Given the description of an element on the screen output the (x, y) to click on. 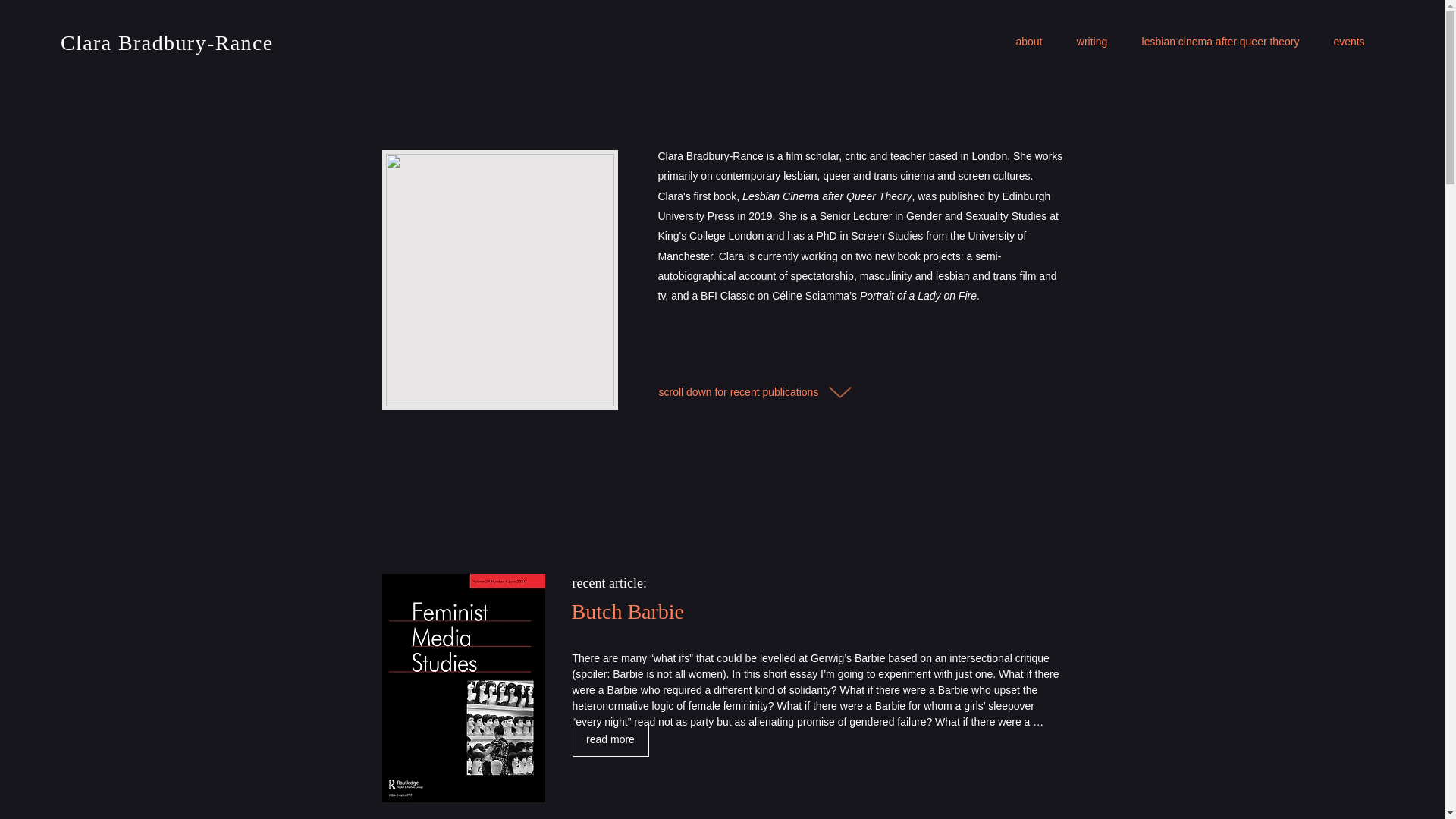
about (1028, 41)
read more (609, 739)
events (1348, 41)
writing (1091, 41)
Clara Bradbury-Rance (167, 42)
scroll down for recent publications (738, 392)
lesbian cinema after queer theory (1220, 41)
